Given the description of an element on the screen output the (x, y) to click on. 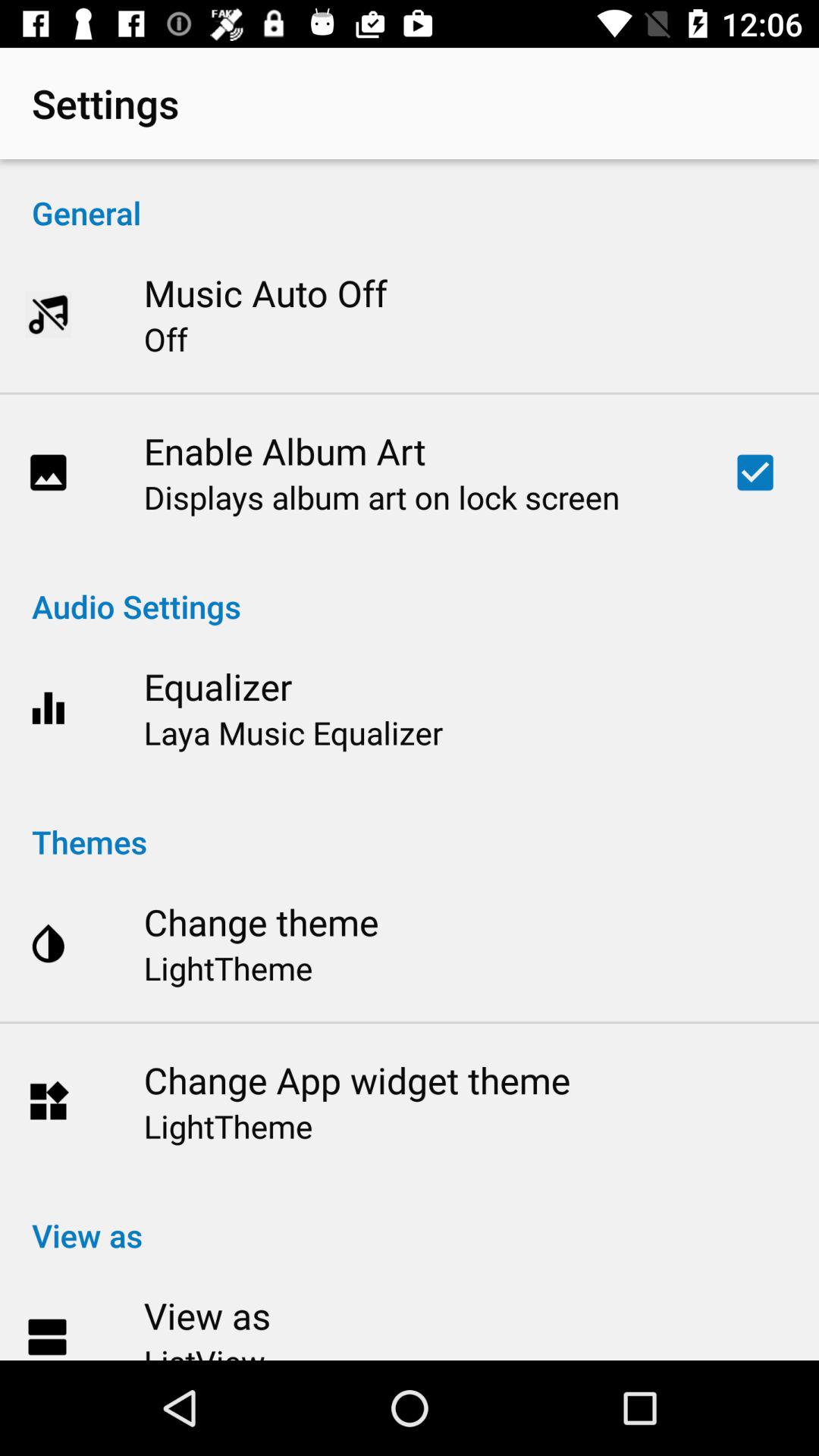
launch laya music equalizer item (293, 732)
